Given the description of an element on the screen output the (x, y) to click on. 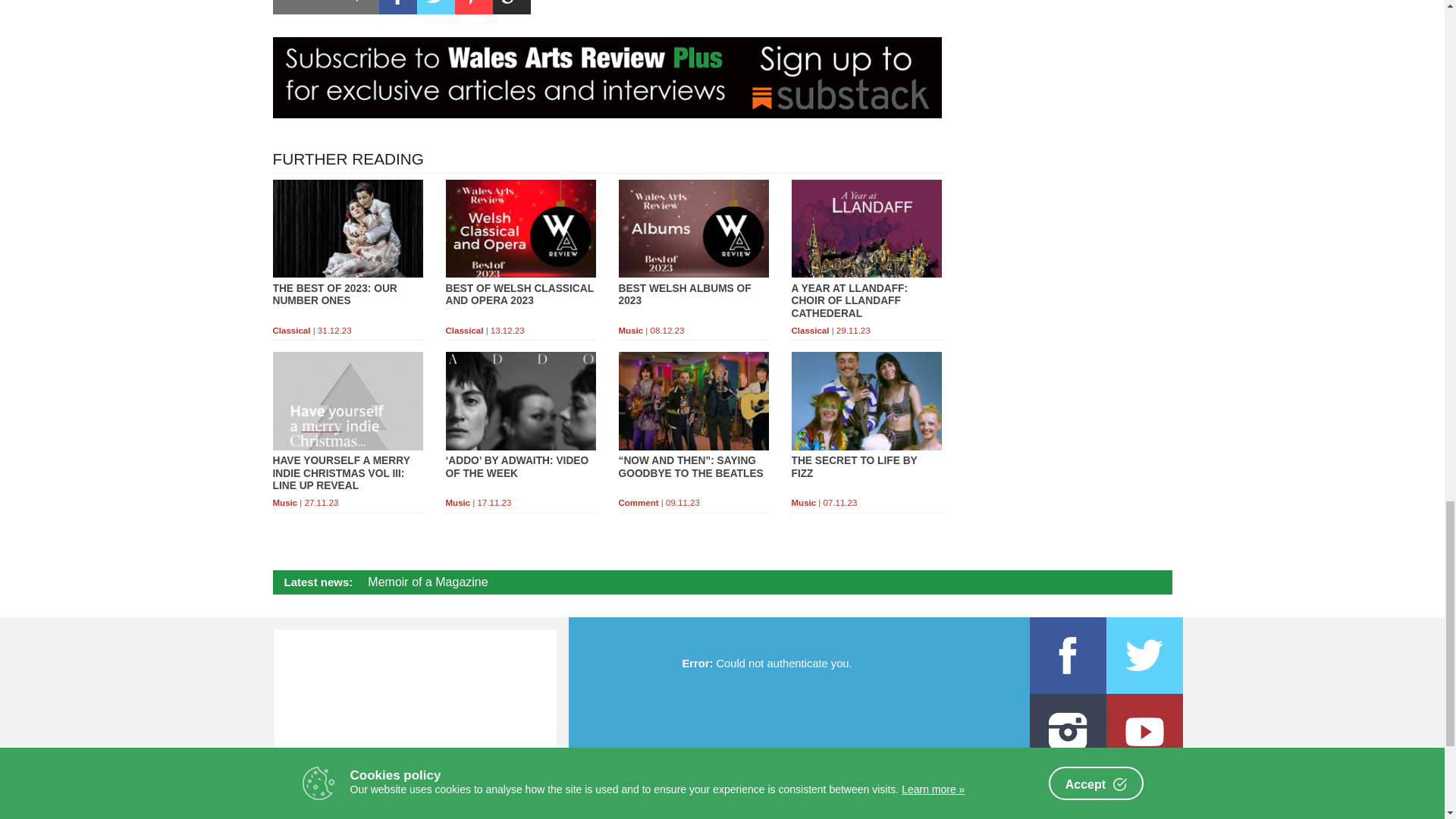
Share this post on Facebook! (397, 7)
Share this post on Twitter! (435, 7)
Pinterest (473, 7)
Memoir of a Magazine (427, 581)
